Given the description of an element on the screen output the (x, y) to click on. 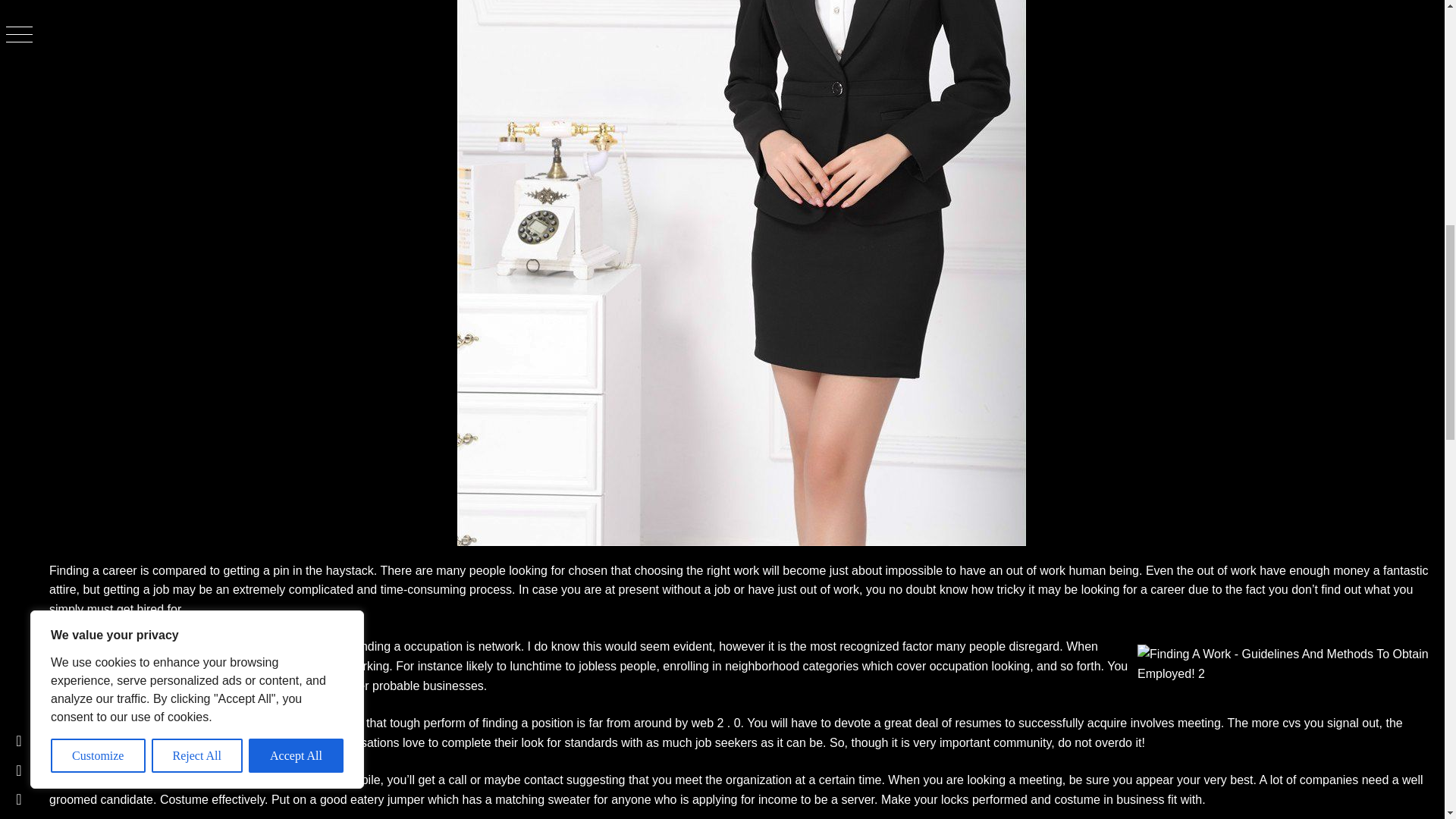
compared (179, 570)
haystack (350, 570)
